Given the description of an element on the screen output the (x, y) to click on. 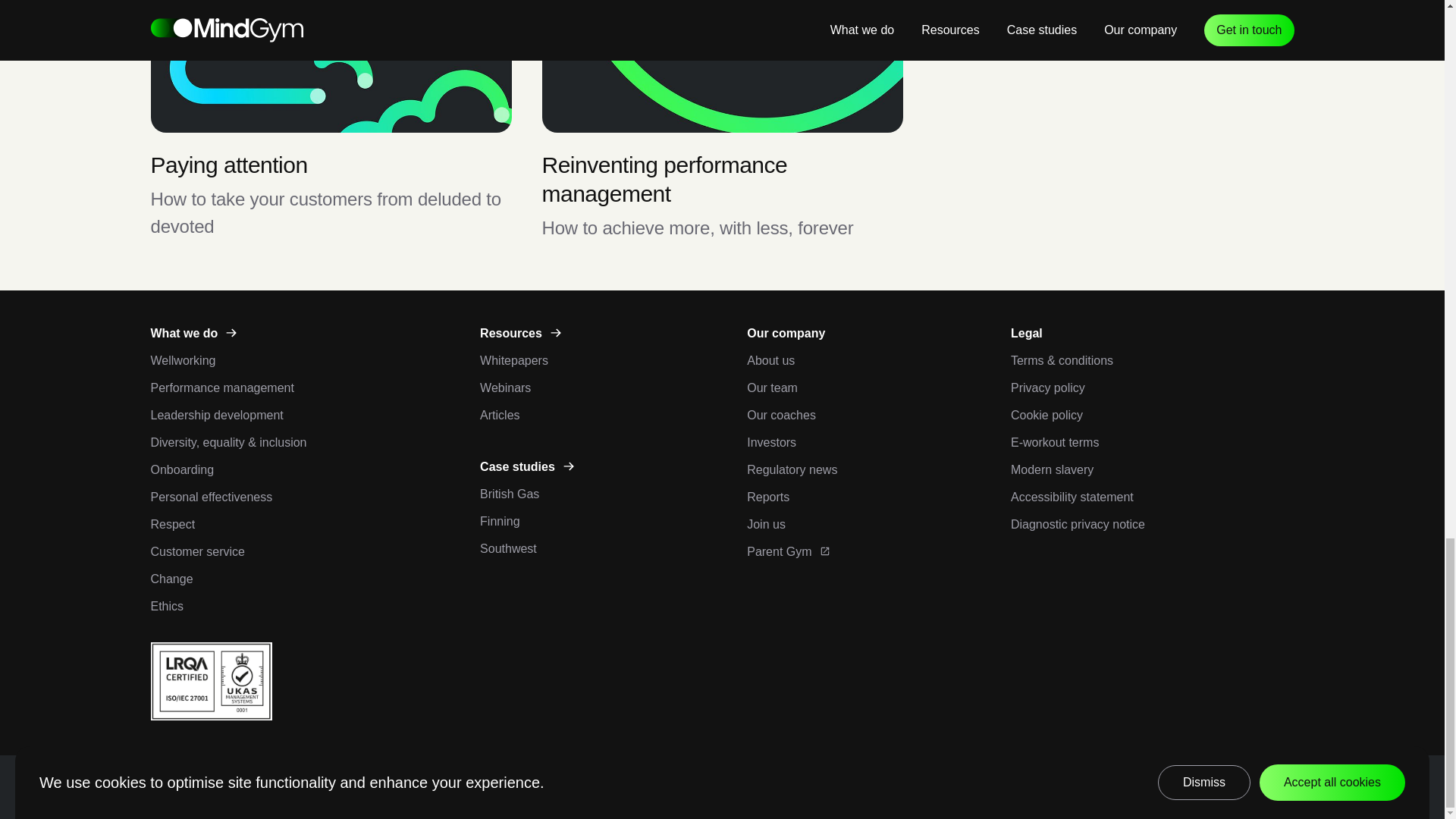
Youtube (1244, 786)
Twitter (1283, 786)
LinkedIn (1206, 786)
